Given the description of an element on the screen output the (x, y) to click on. 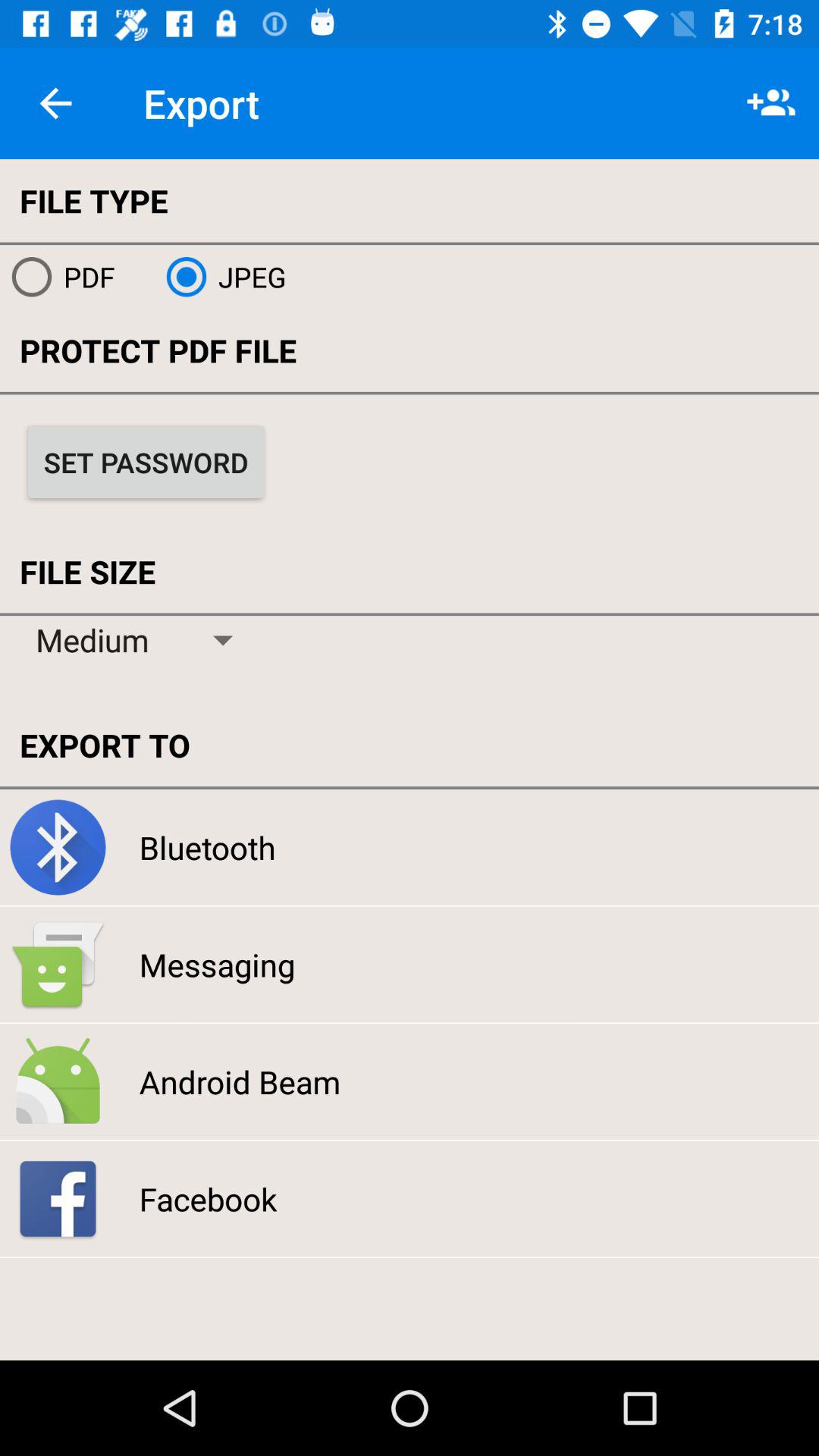
choose item next to export (55, 103)
